Given the description of an element on the screen output the (x, y) to click on. 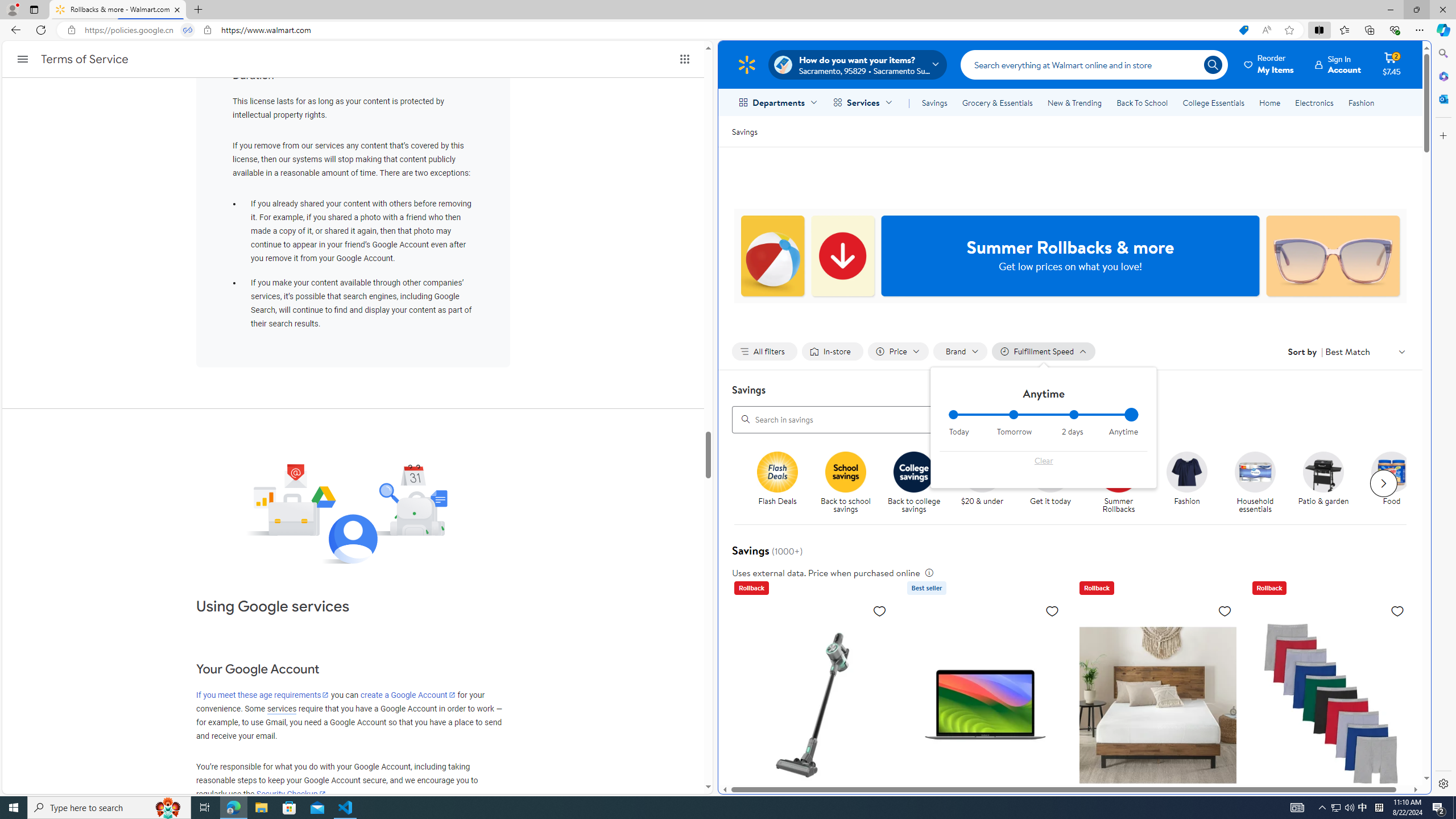
Back to school savings (849, 483)
Filter by In-store (831, 351)
Patio & garden (1323, 471)
Grocery & Essentials (997, 102)
Electronics (1314, 102)
Next slide for chipModuleWithImages list (1383, 483)
Sign In Account (1338, 64)
Filter by Brand not applied, activate to change (960, 351)
